Given the description of an element on the screen output the (x, y) to click on. 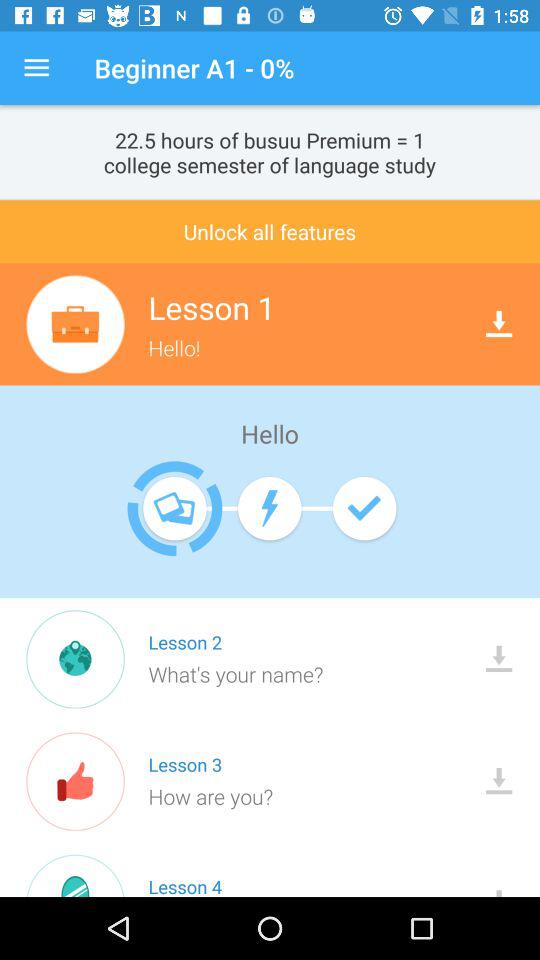
click on the second icon below hello (268, 507)
select the icon left to text lesson 3 (75, 781)
select the download option of lesson 3 (498, 780)
select the icon which is at first left side under hello (174, 507)
click on the download button  to the right of lesson 2 text (498, 659)
select the icon which is to the left side of battery indicator icon (174, 508)
select the tick mark (364, 508)
click on download icon (498, 323)
